Given the description of an element on the screen output the (x, y) to click on. 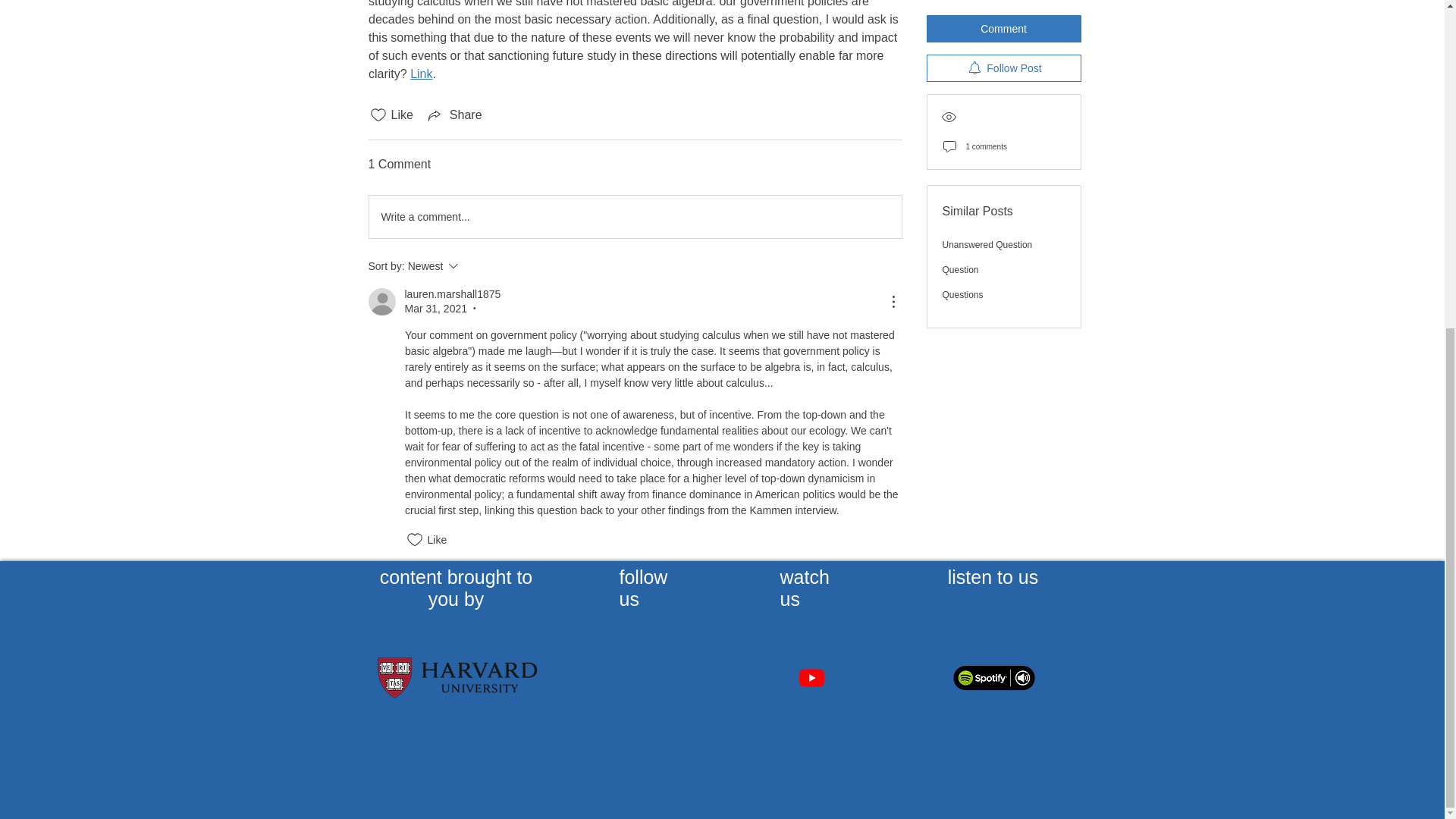
Link (421, 73)
Twitter Follow (654, 677)
Write a comment... (634, 216)
Share (453, 115)
